Given the description of an element on the screen output the (x, y) to click on. 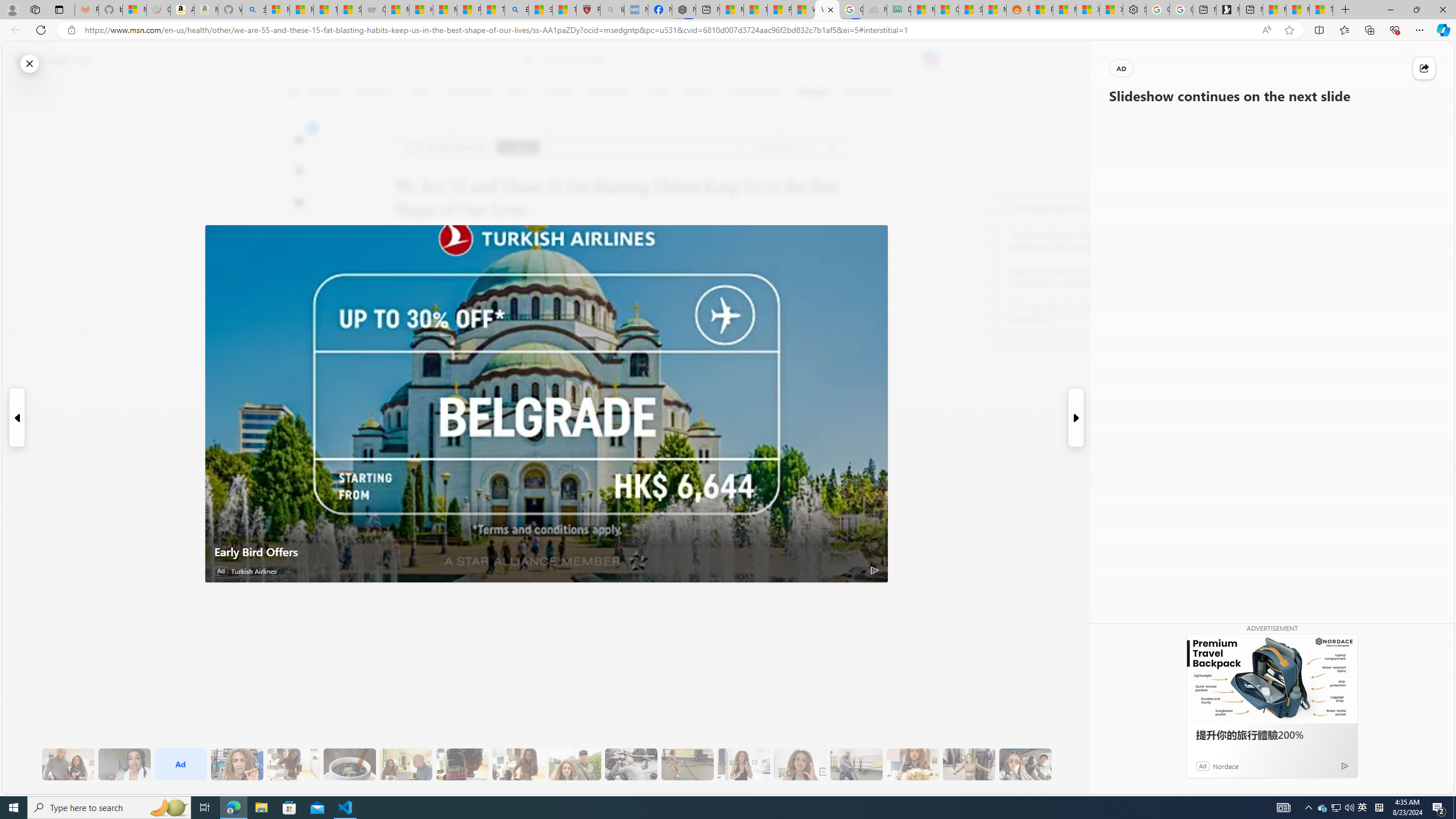
12 Proven Ways To Increase Your Metabolism (1071, 313)
6 Since Eating More Protein Her Training Has Improved (462, 764)
R******* | Trusted Community Engagement and Contributions (1041, 9)
11 They Eat More Protein for Breakfast (743, 764)
13 Her Husband Does Group Cardio Classs (855, 764)
